Given the description of an element on the screen output the (x, y) to click on. 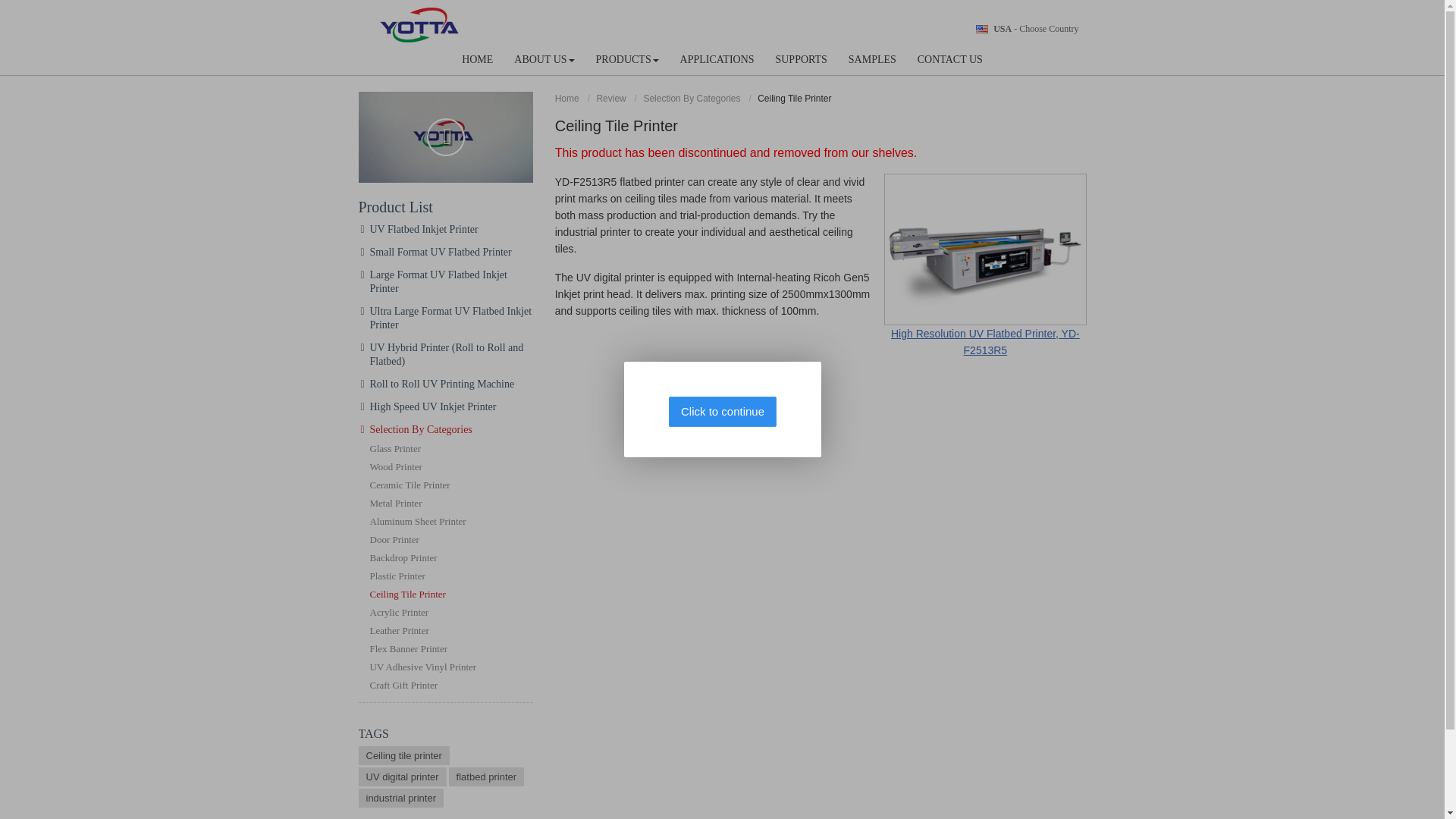
Review (612, 98)
CONTACT US (949, 59)
Home (568, 98)
Selection By Categories (693, 98)
PRODUCTS (627, 59)
ABOUT US (544, 59)
HOME (477, 59)
High Resolution UV Flatbed Printer, YD-F2513R5 (984, 264)
High Resolution UV Flatbed Printer, YD-F2513R5 (984, 264)
SUPPORTS (800, 59)
